Given the description of an element on the screen output the (x, y) to click on. 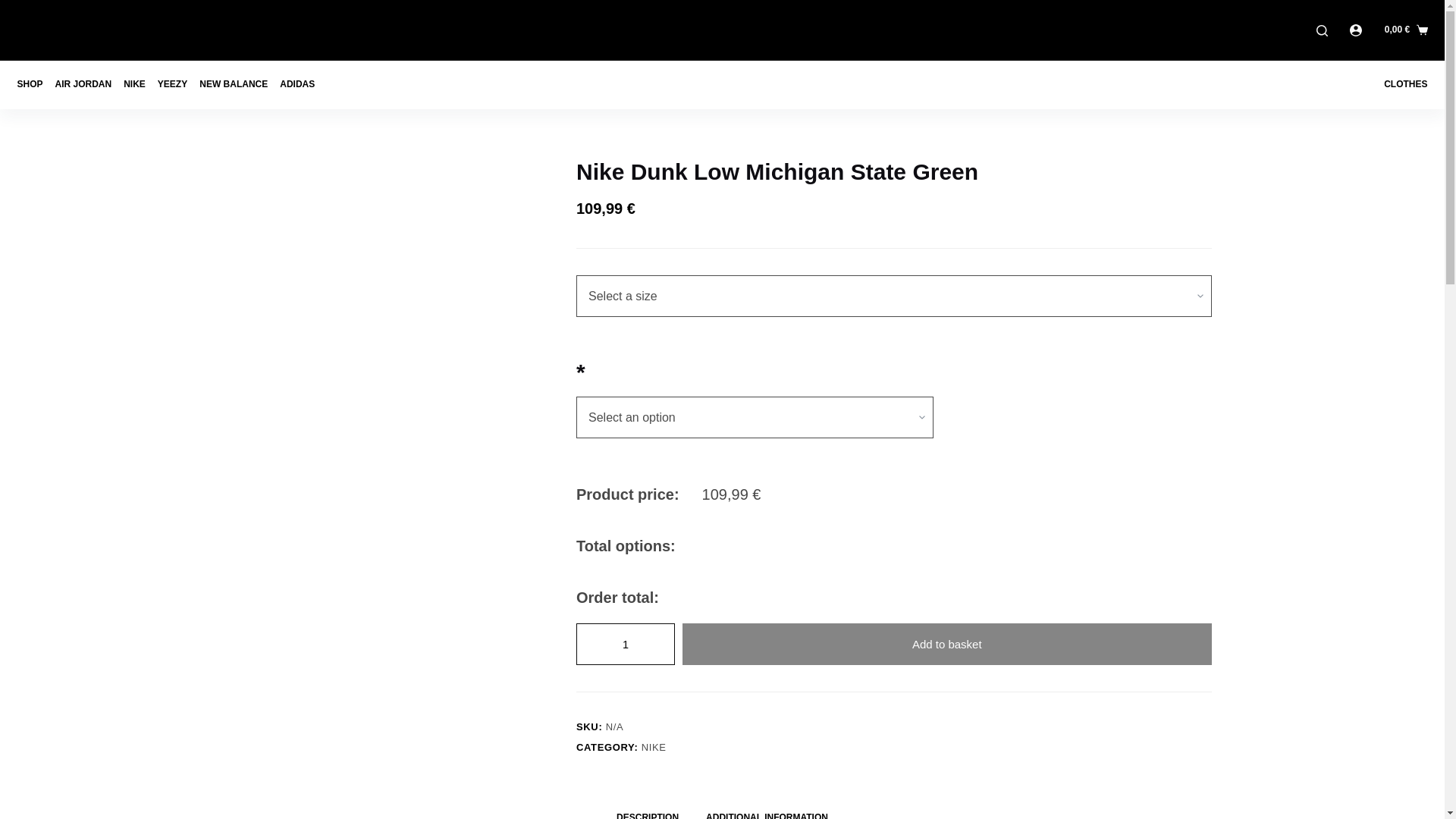
NEW BALANCE (233, 84)
NIKE (654, 747)
Skip to content (15, 7)
Add to basket (946, 644)
ADIDAS (296, 84)
DESCRIPTION (647, 809)
1 (625, 644)
Nike-Dunk-Low-Michigan-State-Green (389, 248)
CLOTHES (1401, 84)
AIR JORDAN (83, 84)
